Given the description of an element on the screen output the (x, y) to click on. 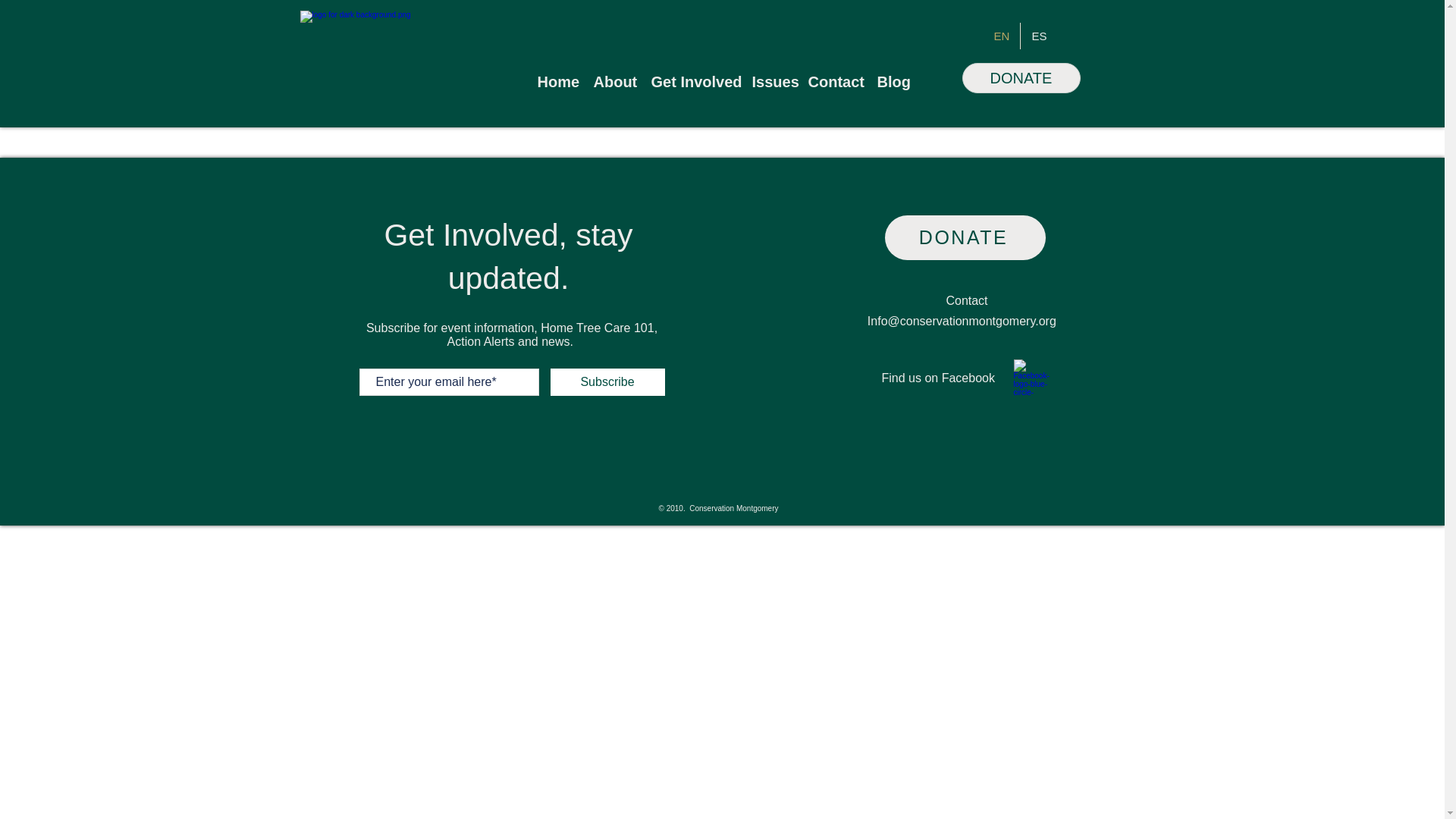
EN (1001, 35)
Subscribe (607, 381)
Issues (772, 82)
Blog (892, 82)
Contact (834, 82)
Home (557, 82)
DONATE (964, 237)
DONATE (1020, 78)
Get Involved (693, 82)
About (614, 82)
